Given the description of an element on the screen output the (x, y) to click on. 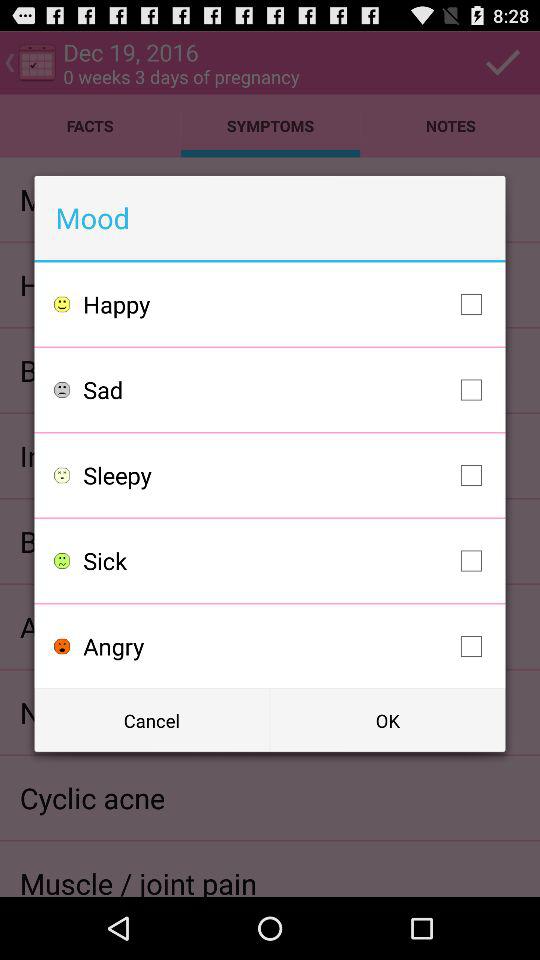
press the sick item (287, 560)
